Given the description of an element on the screen output the (x, y) to click on. 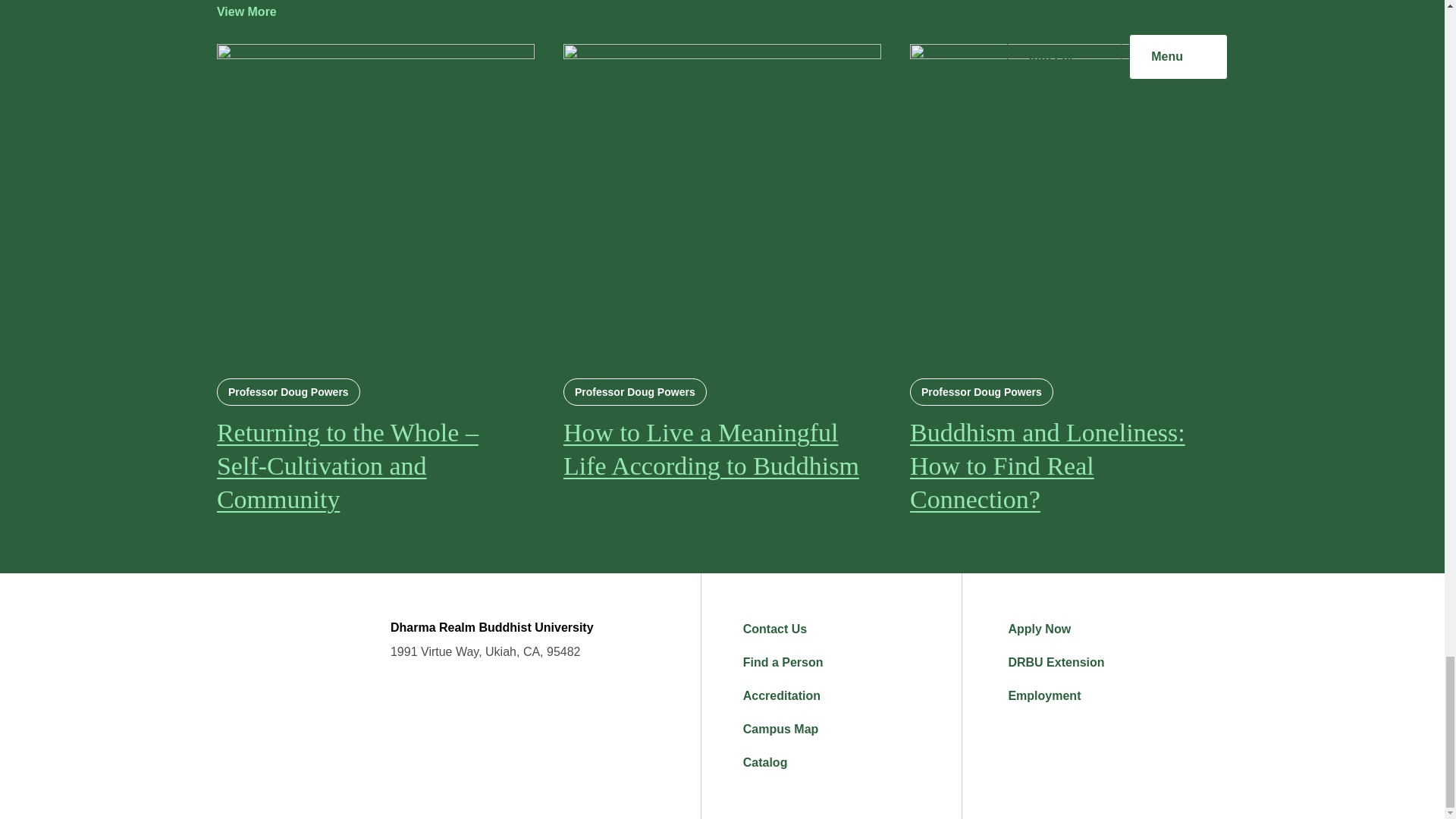
Professor Doug Powers (981, 391)
Contact Us (852, 629)
How to Live a Meaningful Life According to Buddhism (721, 449)
View More (257, 11)
Professor Doug Powers (287, 391)
Buddhism and Loneliness: How to Find Real Connection? (1068, 466)
Campus Map (852, 729)
Dharma Realm Buddhist University (280, 677)
1991 Virtue Way, Ukiah, CA, 95482 (485, 651)
Professor Doug Powers (634, 391)
Find a Person (852, 662)
Accreditation (852, 695)
